Given the description of an element on the screen output the (x, y) to click on. 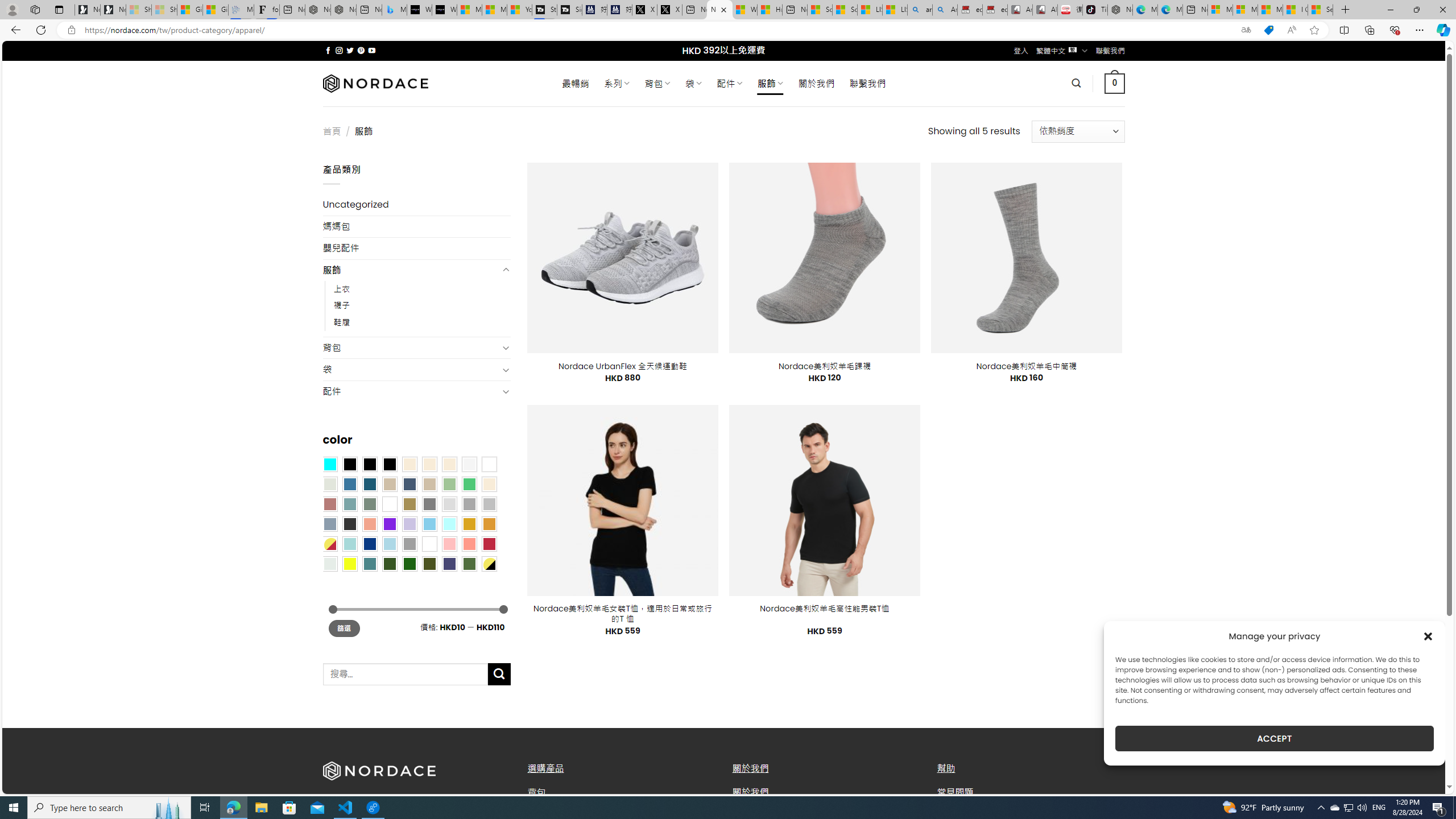
Newsletter Sign Up (113, 9)
Show translate options (1245, 29)
Wildlife - MSN (744, 9)
